Given the description of an element on the screen output the (x, y) to click on. 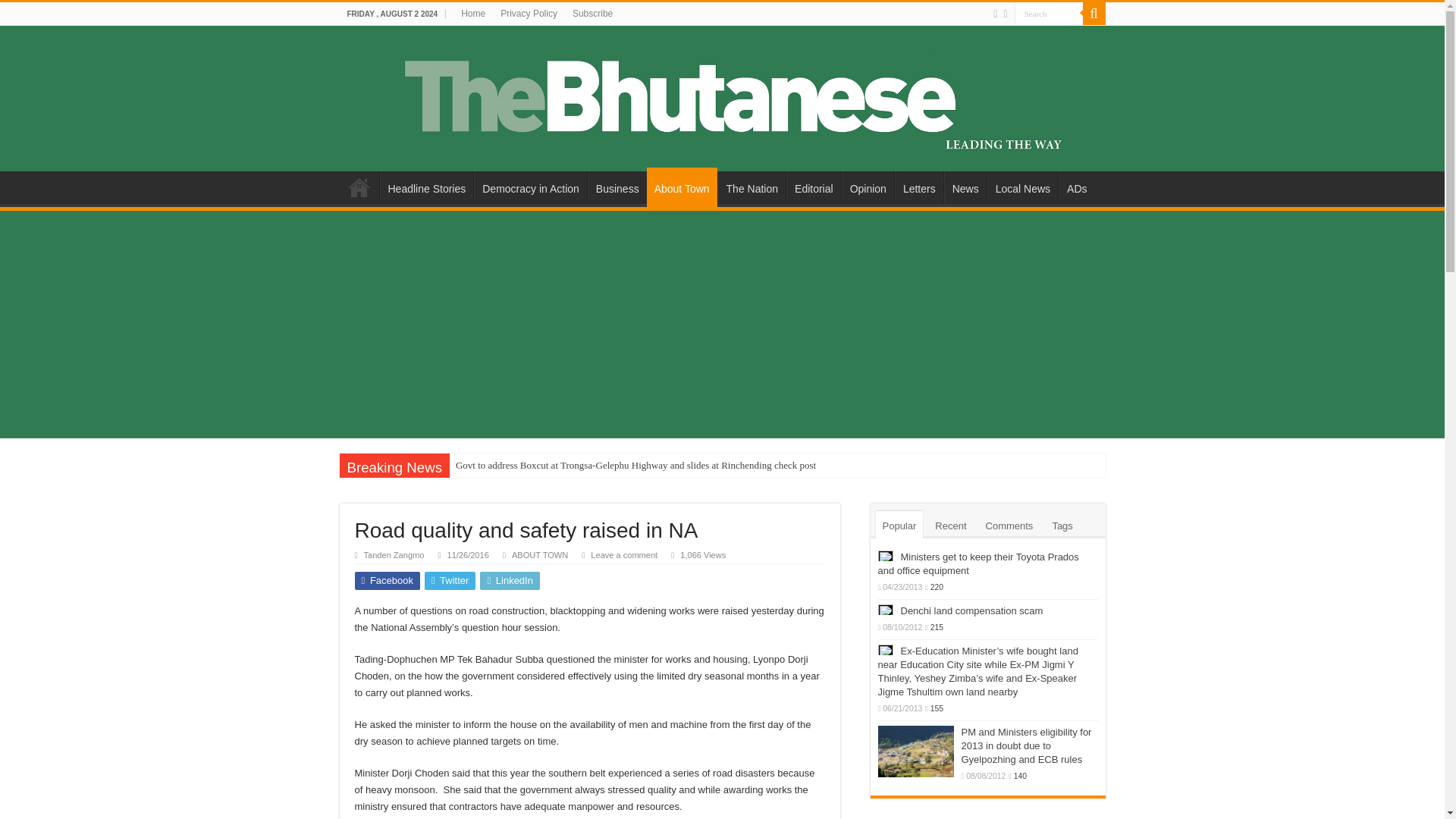
HOME (358, 187)
Search (1048, 13)
ADs (1076, 187)
Home (472, 13)
Privacy Policy (528, 13)
Business (617, 187)
Search (1048, 13)
Democracy in Action (530, 187)
News (965, 187)
Opinion (867, 187)
Headline Stories (425, 187)
Letters (919, 187)
Search (1094, 13)
